Given the description of an element on the screen output the (x, y) to click on. 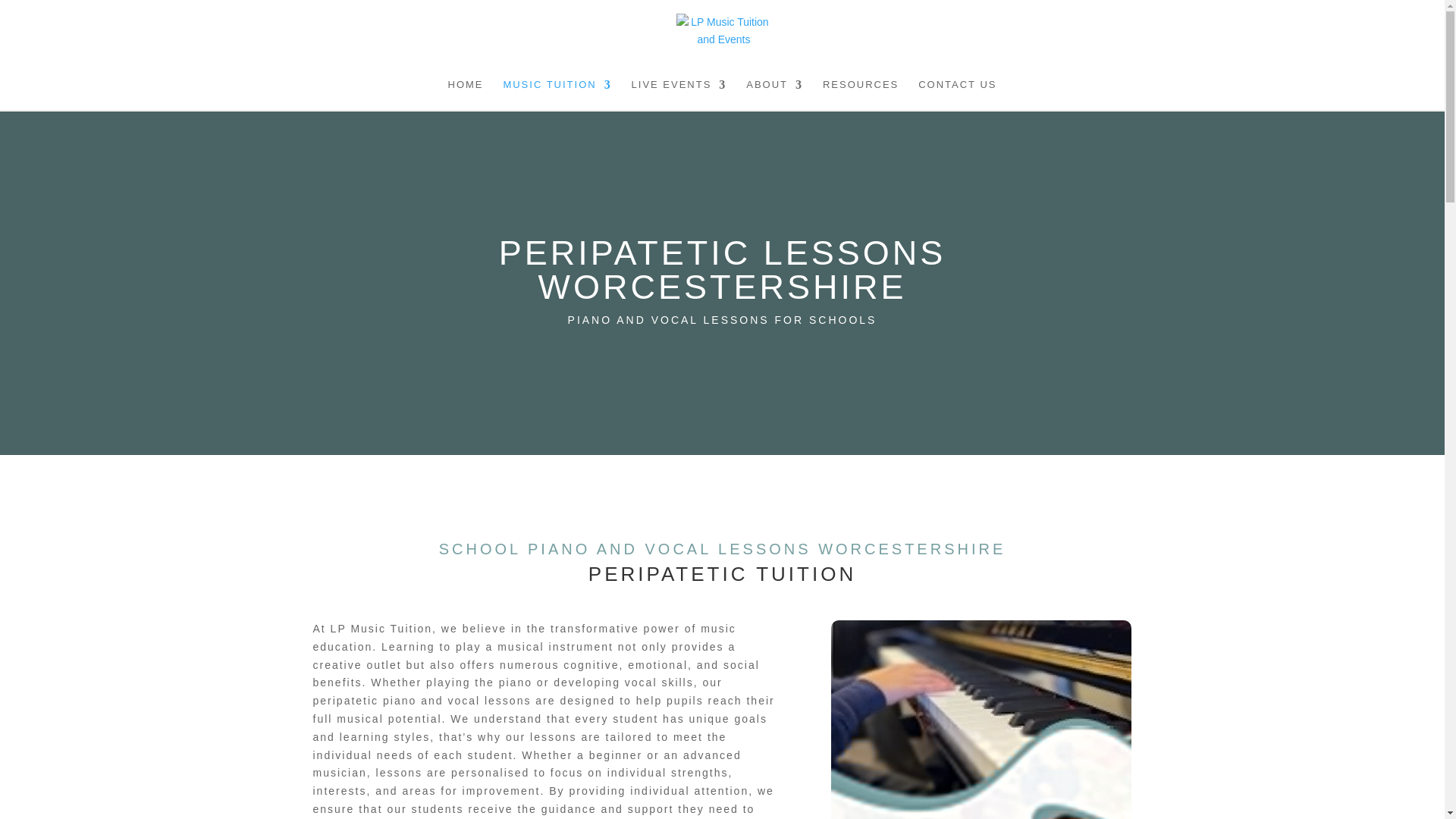
peripatetic lessons leaflet (981, 719)
MUSIC TUITION (556, 94)
RESOURCES (860, 94)
LIVE EVENTS (678, 94)
HOME (464, 94)
ABOUT (774, 94)
CONTACT US (956, 94)
